Given the description of an element on the screen output the (x, y) to click on. 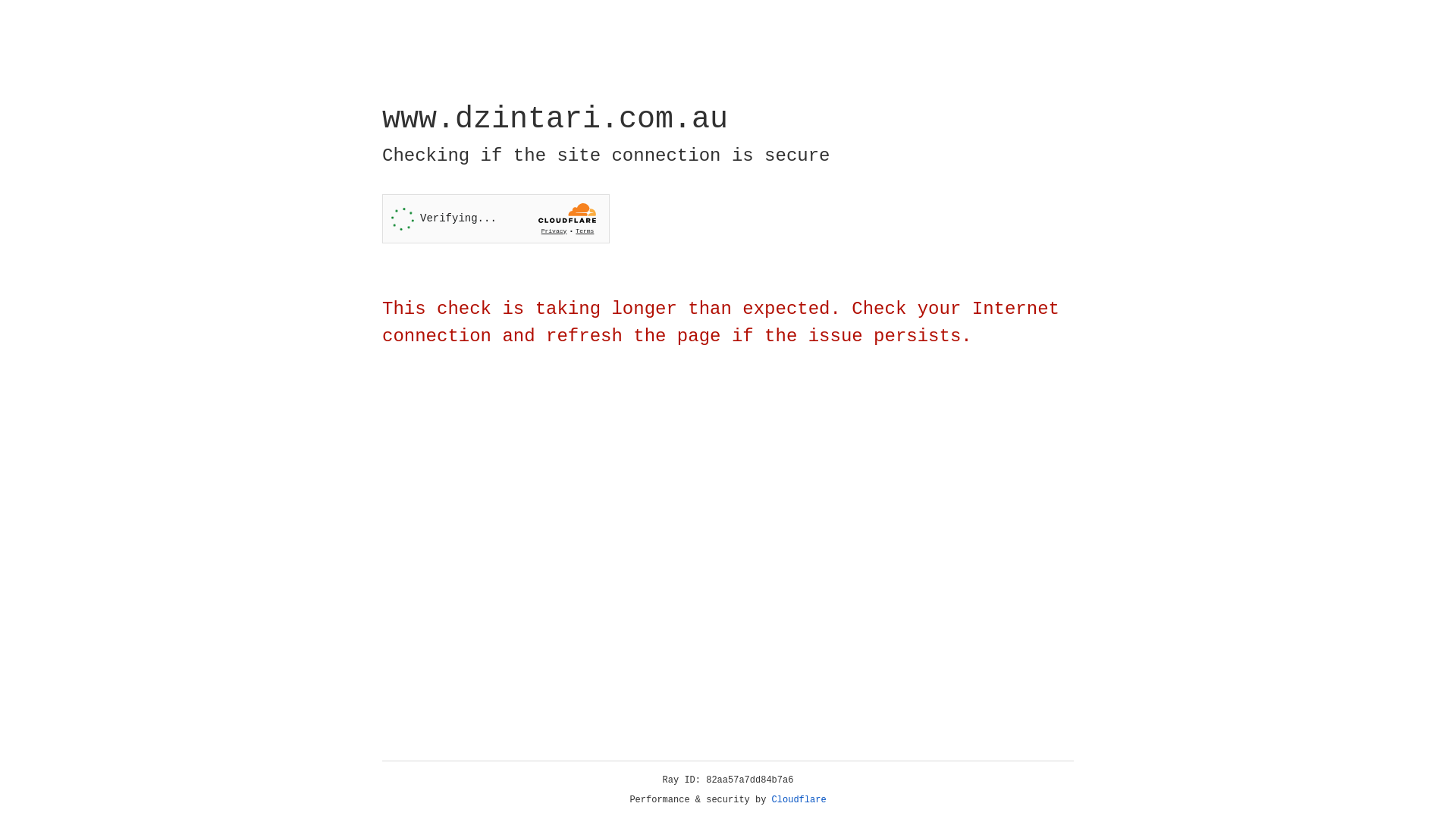
Widget containing a Cloudflare security challenge Element type: hover (495, 218)
Cloudflare Element type: text (798, 799)
